Given the description of an element on the screen output the (x, y) to click on. 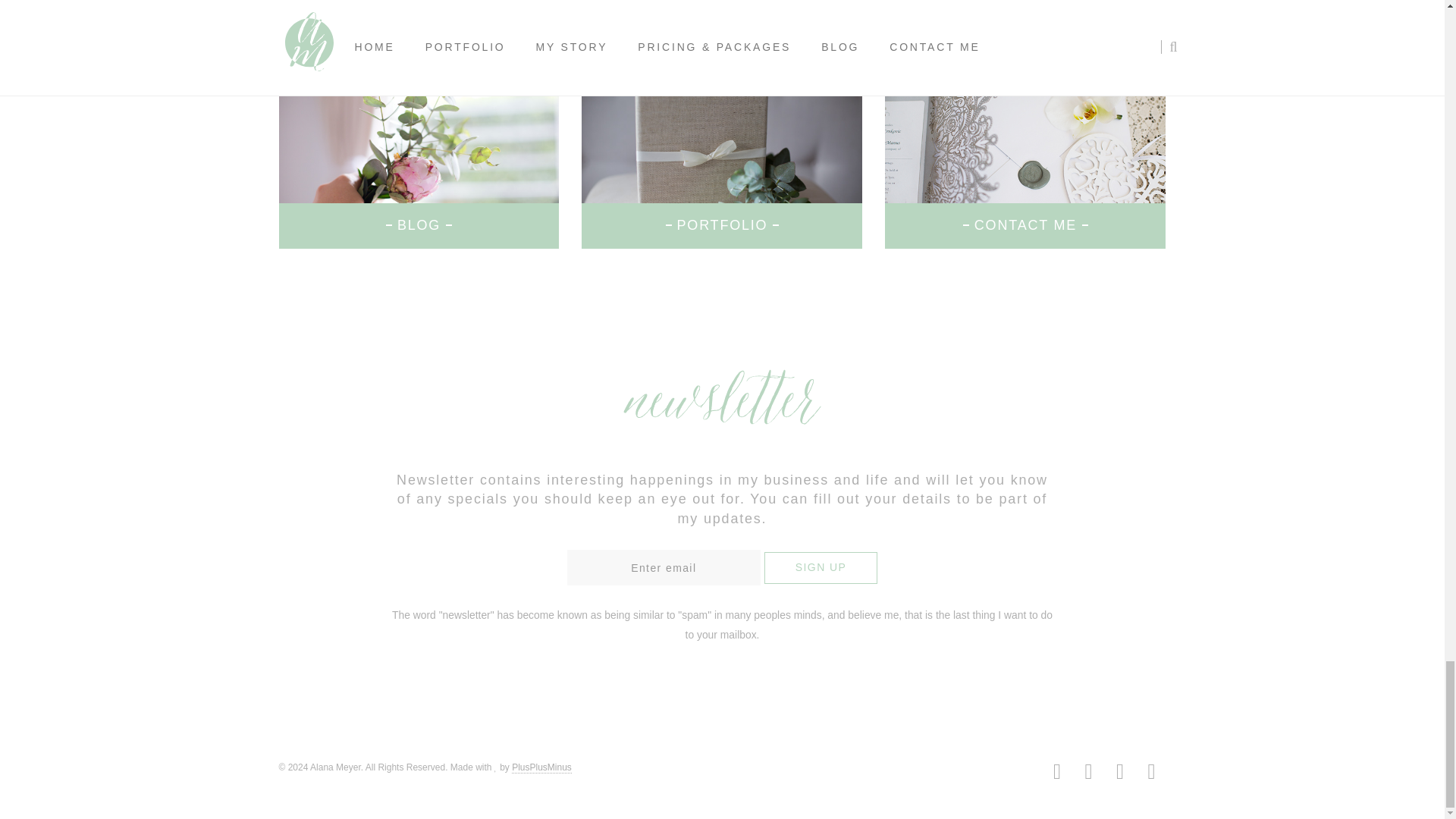
PlusPlusMinus (542, 767)
SIGN UP (820, 567)
